Given the description of an element on the screen output the (x, y) to click on. 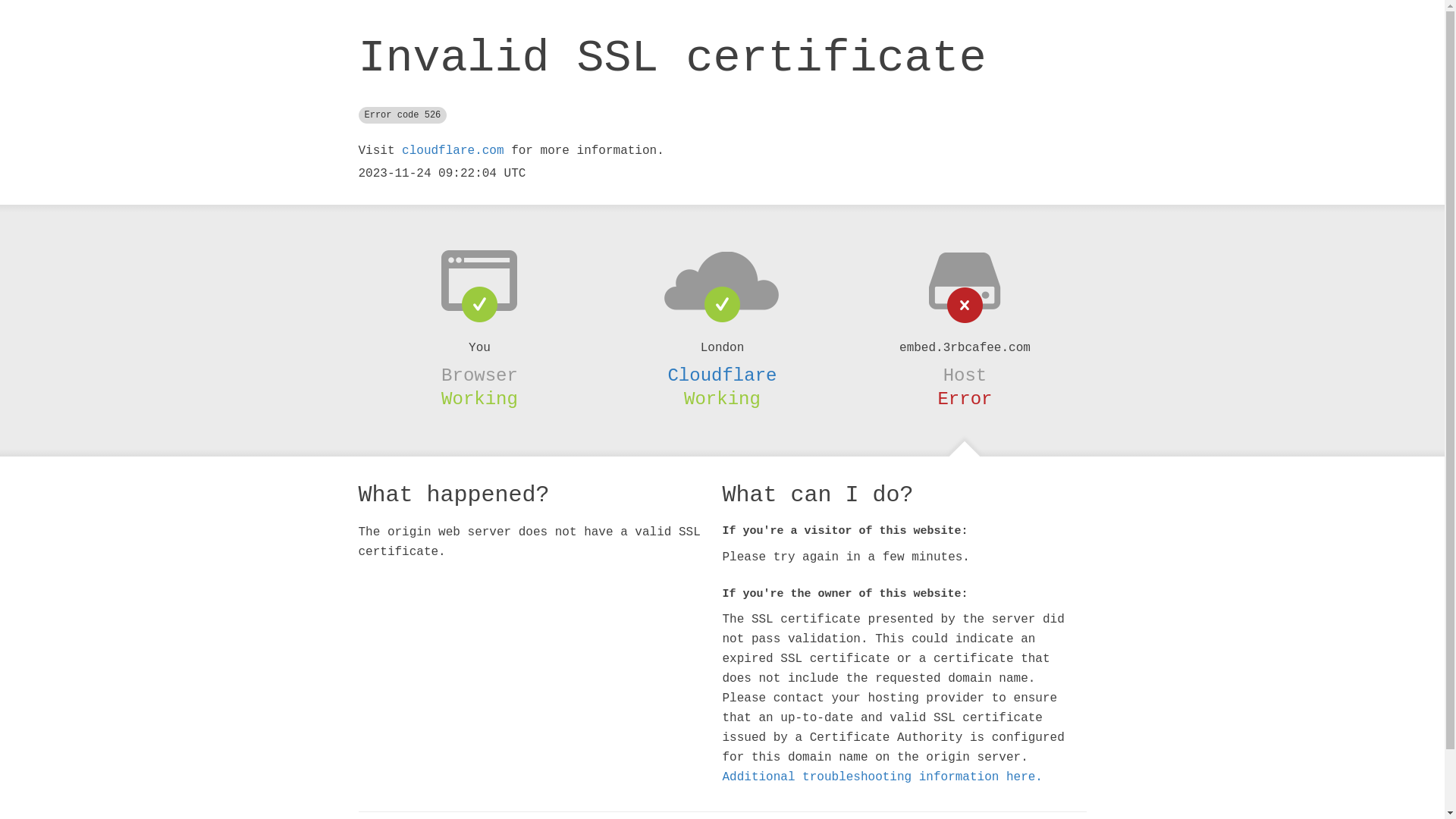
Cloudflare Element type: text (721, 375)
cloudflare.com Element type: text (452, 150)
Additional troubleshooting information here. Element type: text (881, 777)
